Given the description of an element on the screen output the (x, y) to click on. 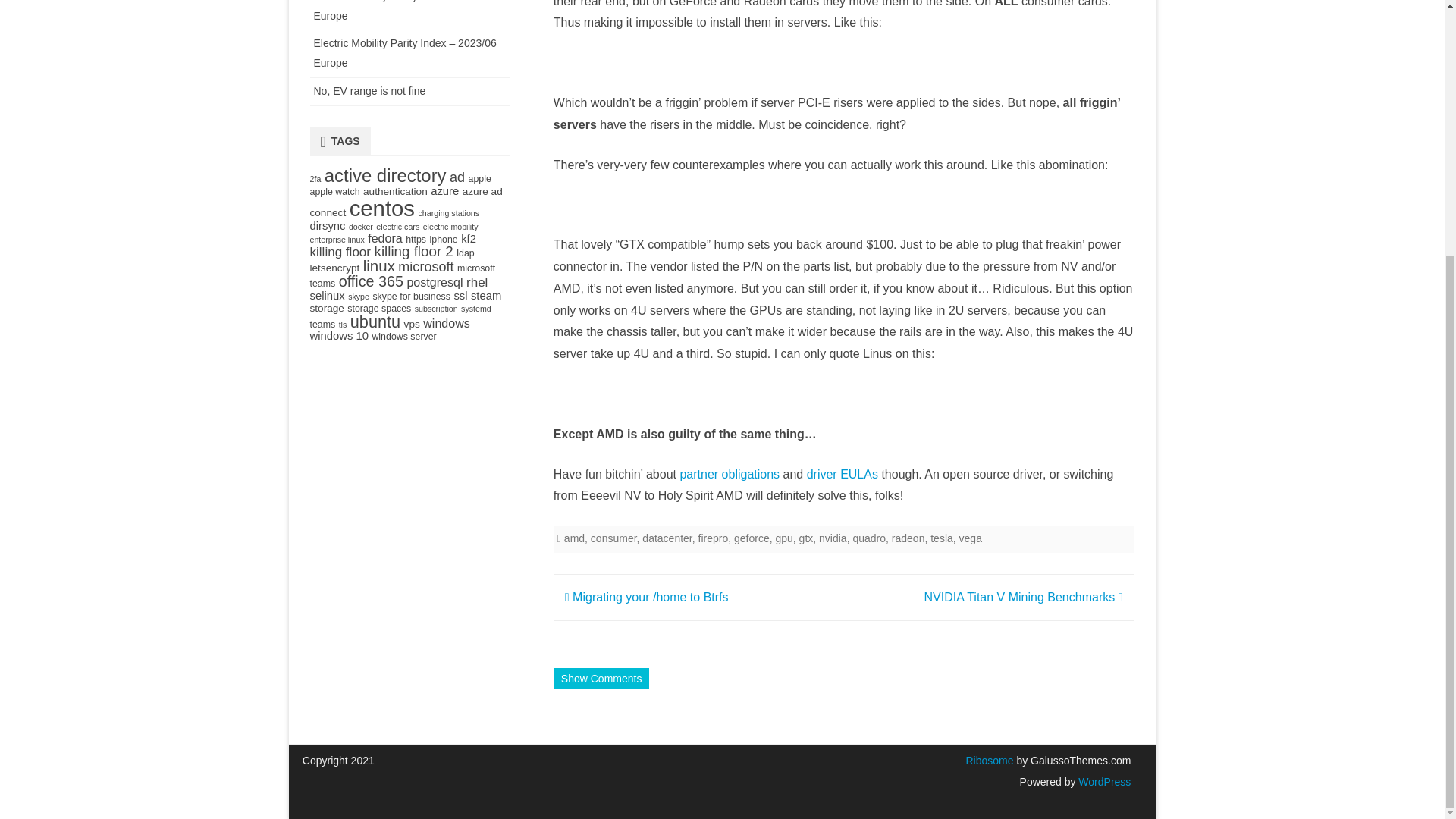
datacenter (666, 538)
No, EV range is not fine (370, 91)
firepro (713, 538)
radeon (907, 538)
2fa (314, 178)
amd (574, 538)
quadro (868, 538)
gpu (783, 538)
Show Comments (601, 678)
Semantic Personal Publishing Platform (1103, 781)
Show Comments (601, 678)
gtx (806, 538)
driver EULAs (841, 473)
geforce (751, 538)
consumer (614, 538)
